Given the description of an element on the screen output the (x, y) to click on. 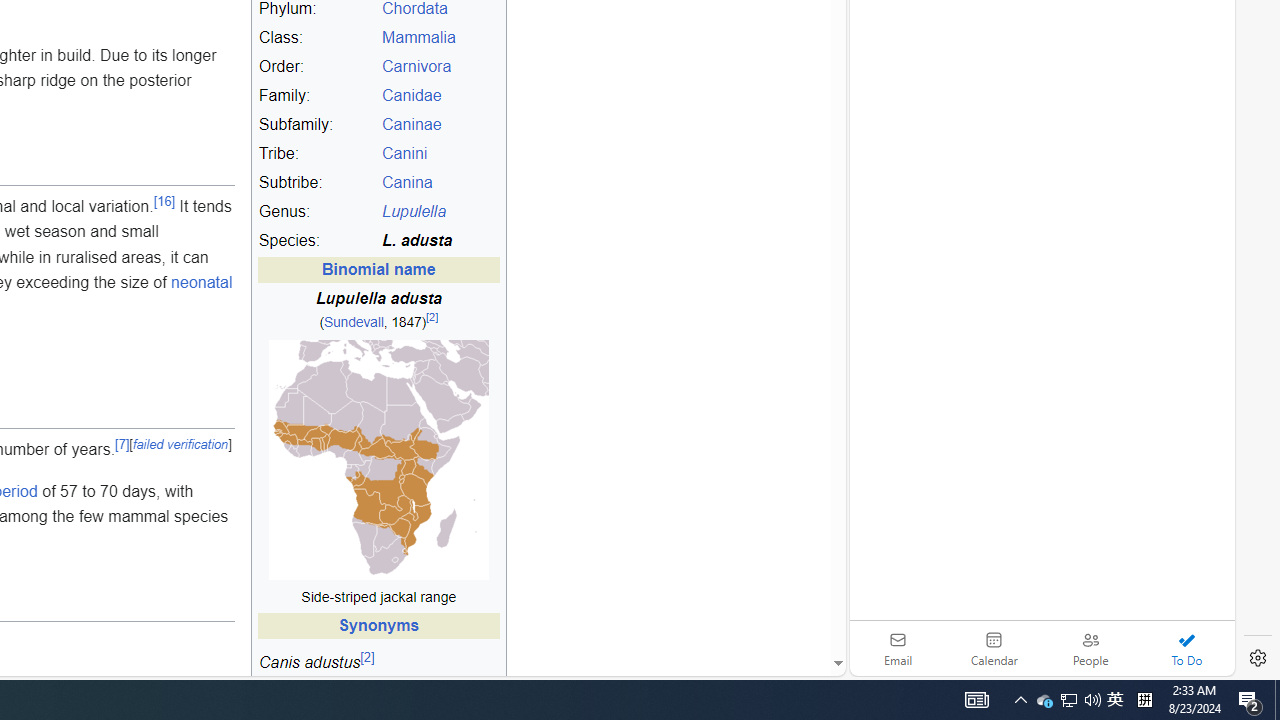
Chordata (414, 9)
Subfamily: (317, 125)
Tribe: (317, 154)
[7] (122, 444)
Genus: (317, 212)
Synonyms (378, 626)
failed verification (180, 444)
Lupulella adusta (Sundevall, 1847)[2] (378, 310)
Carnivora (440, 67)
Canini (404, 153)
[16] (164, 200)
Binomial name (378, 270)
Class: mw-file-description (377, 460)
Email (898, 648)
